Given the description of an element on the screen output the (x, y) to click on. 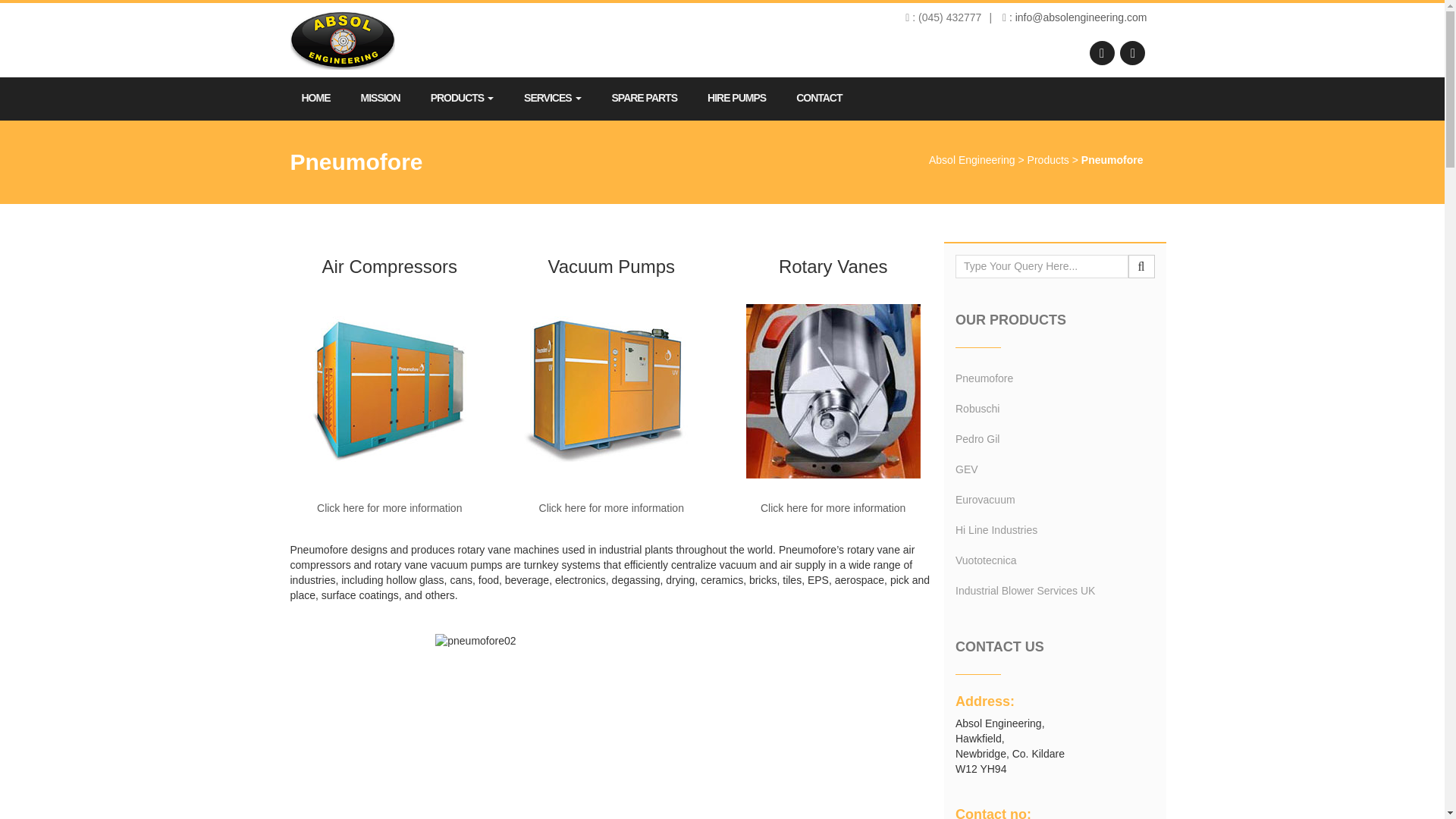
MISSION (379, 98)
CONTACT (818, 98)
SERVICES (552, 98)
Mission (379, 98)
Click here for more information (389, 508)
Click here for more information (611, 508)
HOME (314, 98)
Services (552, 98)
SPARE PARTS (643, 98)
Products (1047, 159)
Products (462, 98)
PRODUCTS (462, 98)
Home (314, 98)
Absol Engineering (971, 159)
HIRE PUMPS (736, 98)
